Given the description of an element on the screen output the (x, y) to click on. 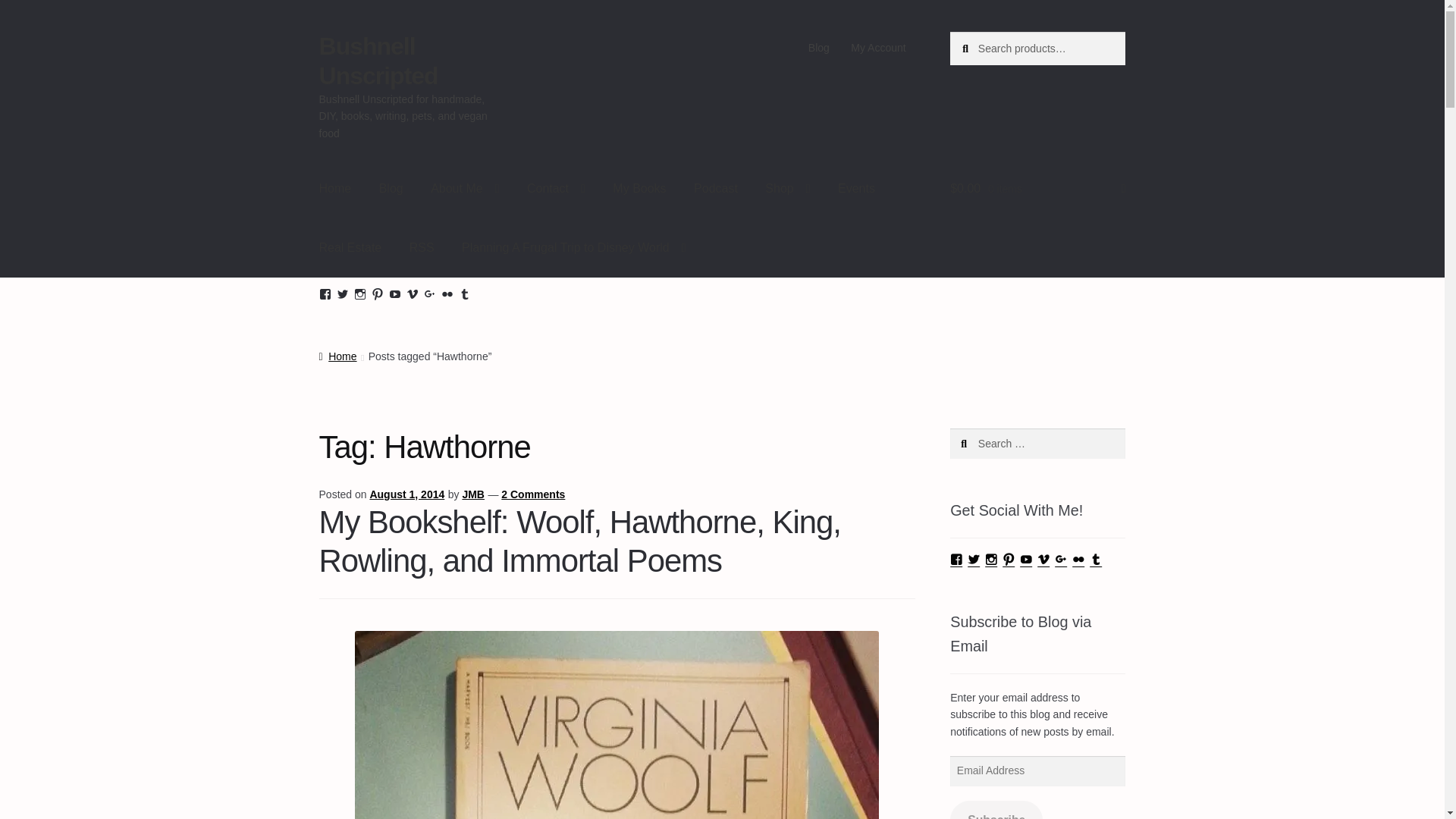
My Books (638, 188)
My Account (878, 47)
Podcast (715, 188)
Real Estate (350, 247)
Bushnell Unscripted (378, 60)
Contact (555, 188)
Planning A Frugal Trip to Disney World (573, 247)
Blog (819, 47)
Events (855, 188)
View your shopping cart (1037, 188)
Shop (787, 188)
